Given the description of an element on the screen output the (x, y) to click on. 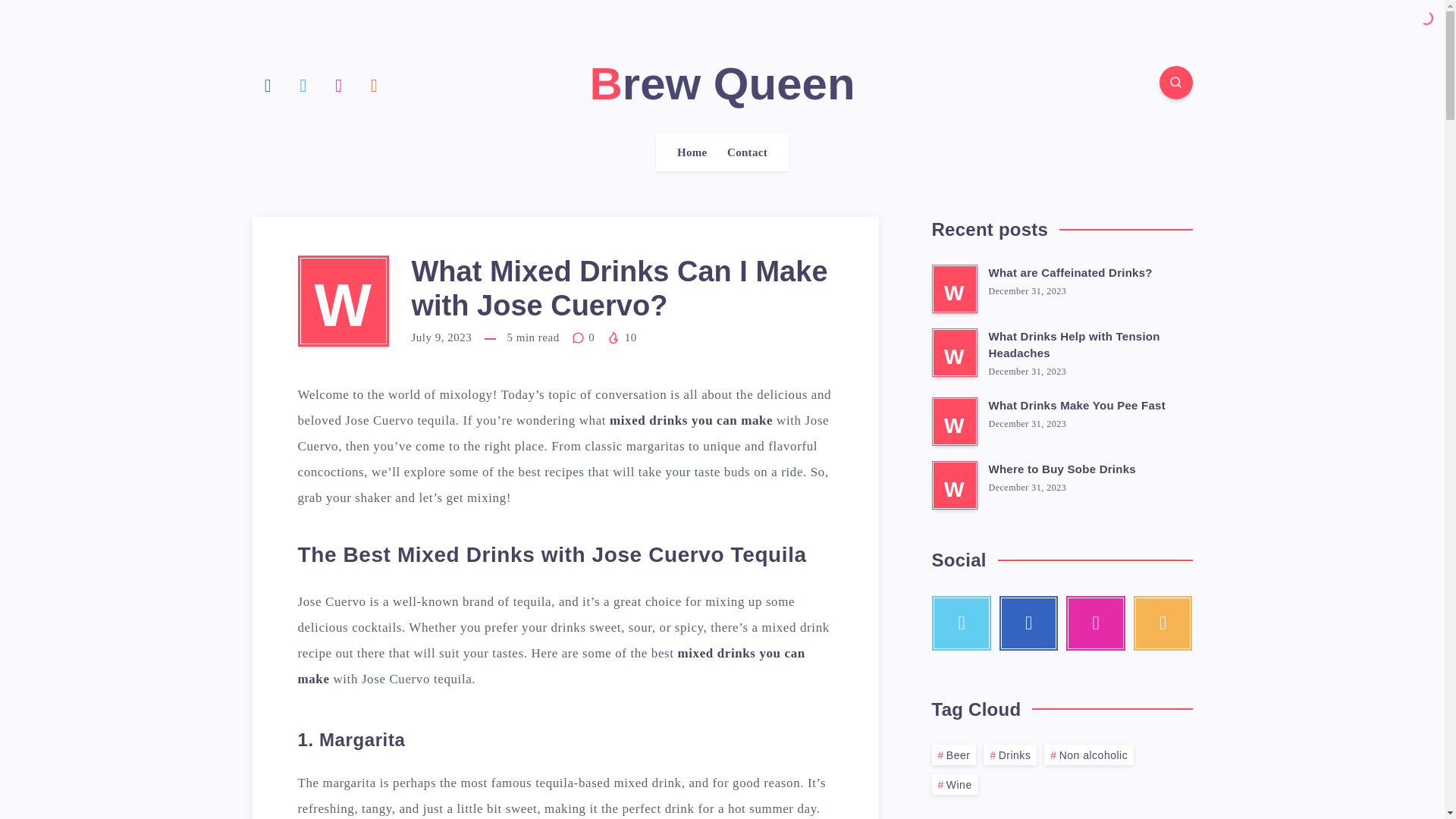
Home (692, 152)
0 Comments (585, 337)
What are Caffeinated Drinks? (1070, 274)
W (953, 485)
W (953, 288)
W (953, 352)
What Drinks Make You Pee Fast (1077, 406)
Brew Queen (721, 83)
10 Views (621, 337)
0 (585, 337)
